Given the description of an element on the screen output the (x, y) to click on. 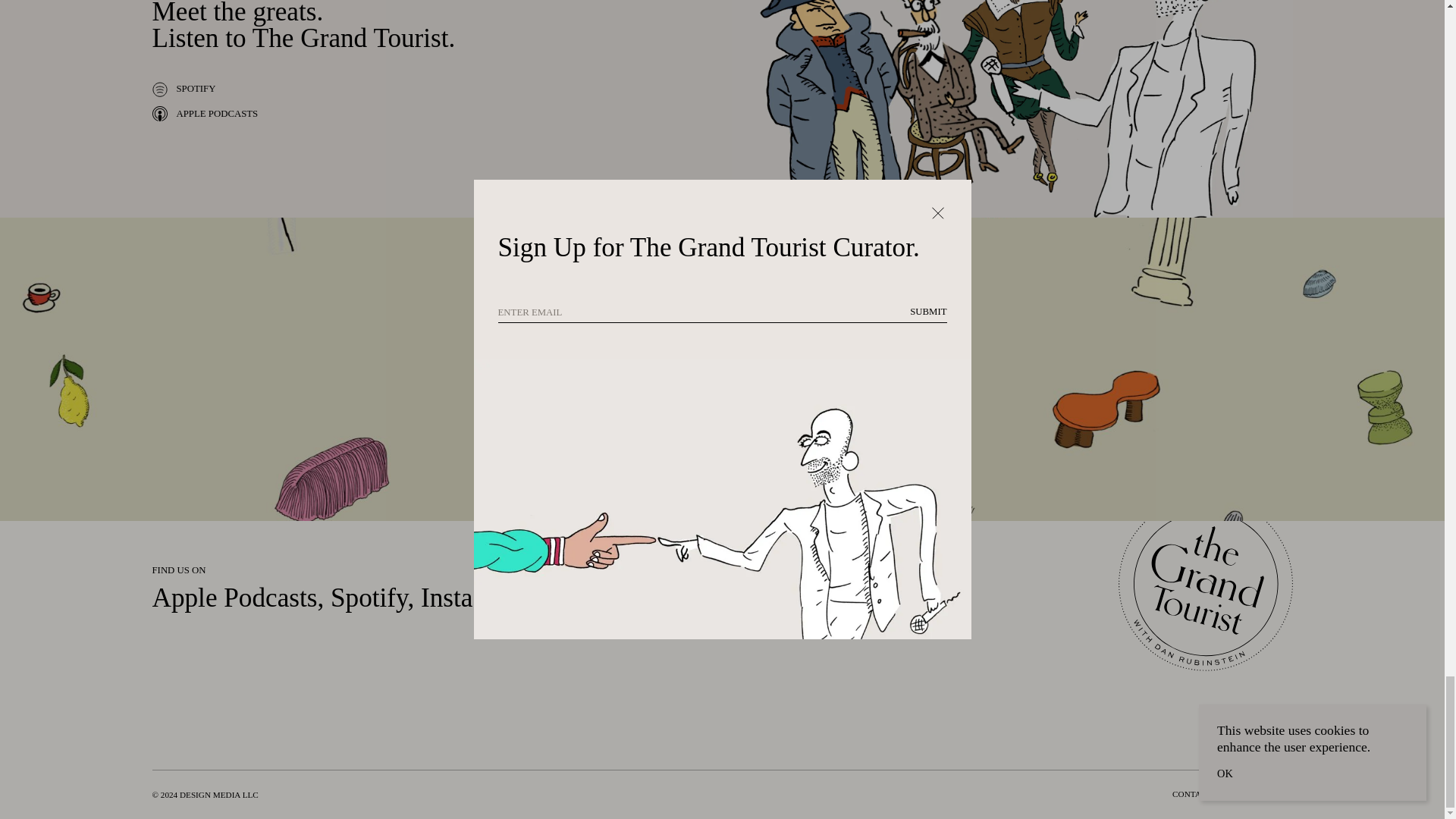
Email (601, 597)
Spotify (368, 597)
Instagram (473, 597)
PRIVACY POLICY (1258, 794)
CONTACT (1191, 794)
Apple Podcasts (234, 597)
APPLE PODCASTS (204, 114)
SPOTIFY (183, 89)
